Given the description of an element on the screen output the (x, y) to click on. 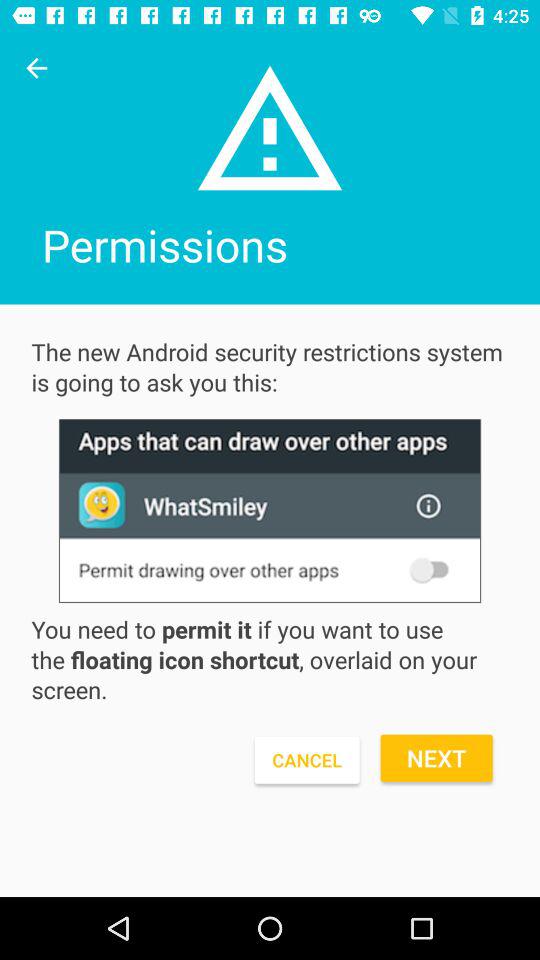
click on previous (36, 68)
